Given the description of an element on the screen output the (x, y) to click on. 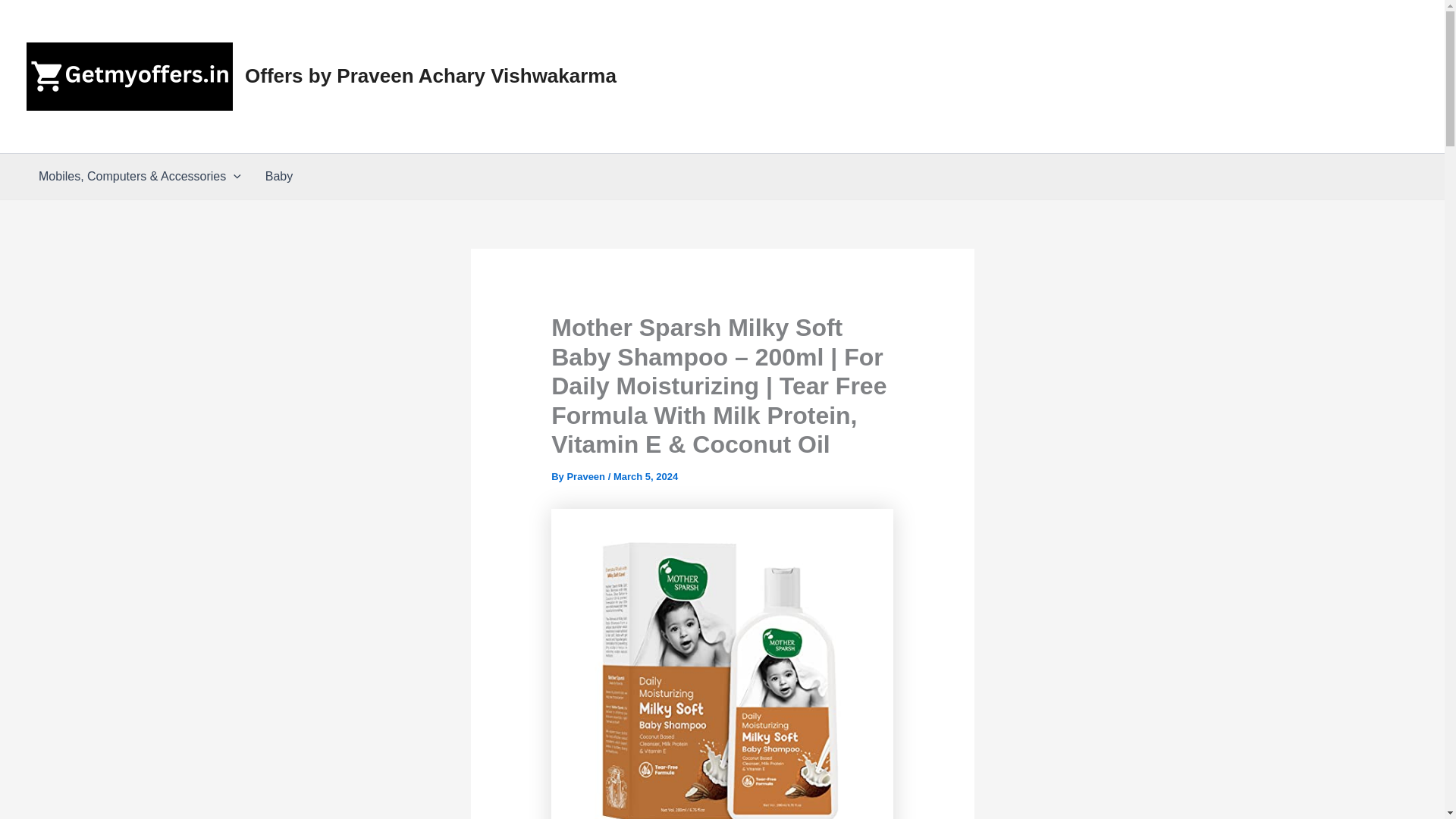
Under 100-200 (765, 38)
Under 400-500 (1080, 38)
Baby (278, 176)
Under 200-300 (869, 38)
Under 1000-5000 (1304, 38)
Above 20000 (1069, 114)
Under 500-1000 (1190, 38)
Under 15000-20000 (955, 114)
Under 300-400 (975, 38)
Under 10000-15000 (822, 114)
